Given the description of an element on the screen output the (x, y) to click on. 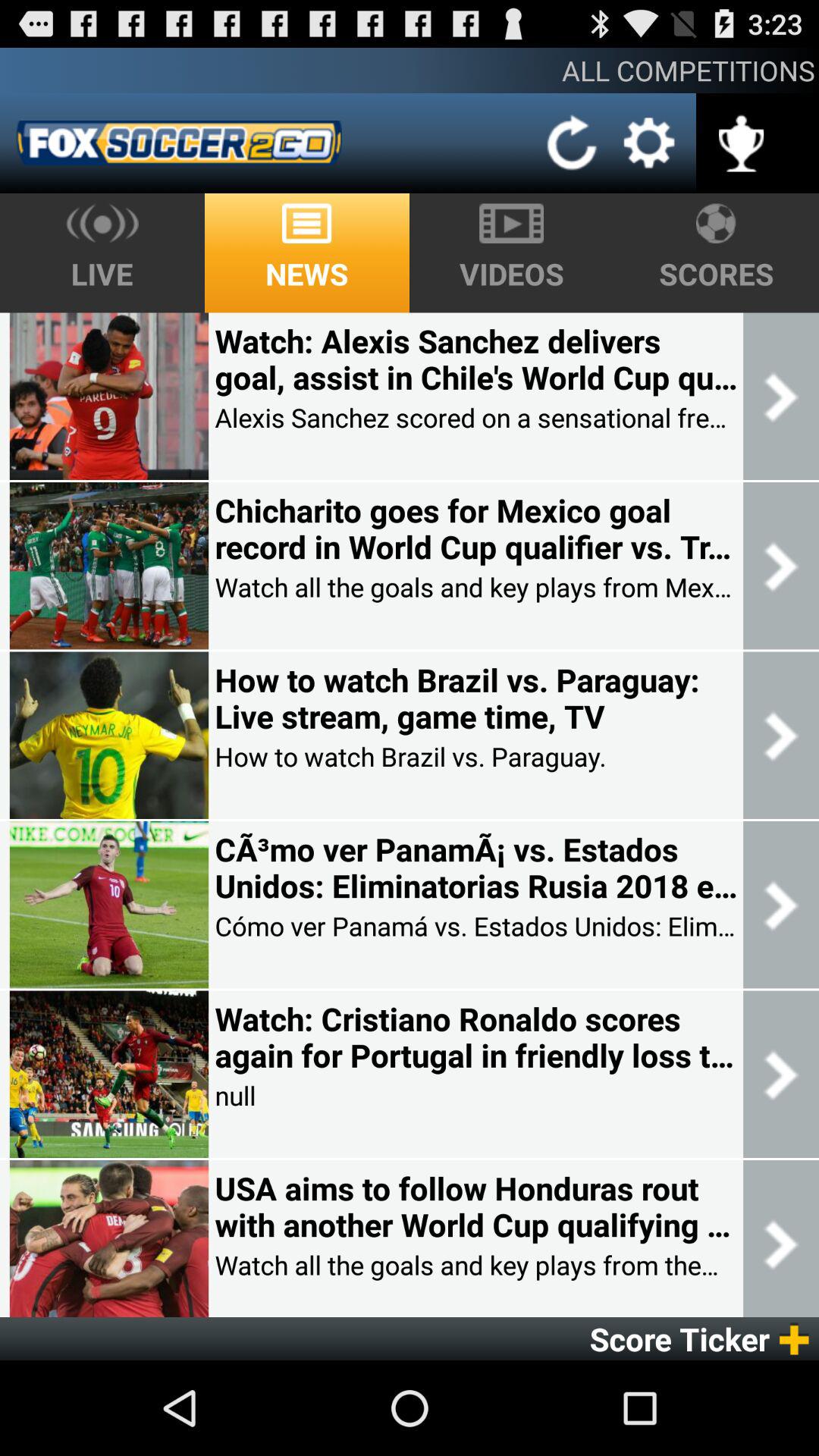
press app below all competitions app (179, 142)
